Given the description of an element on the screen output the (x, y) to click on. 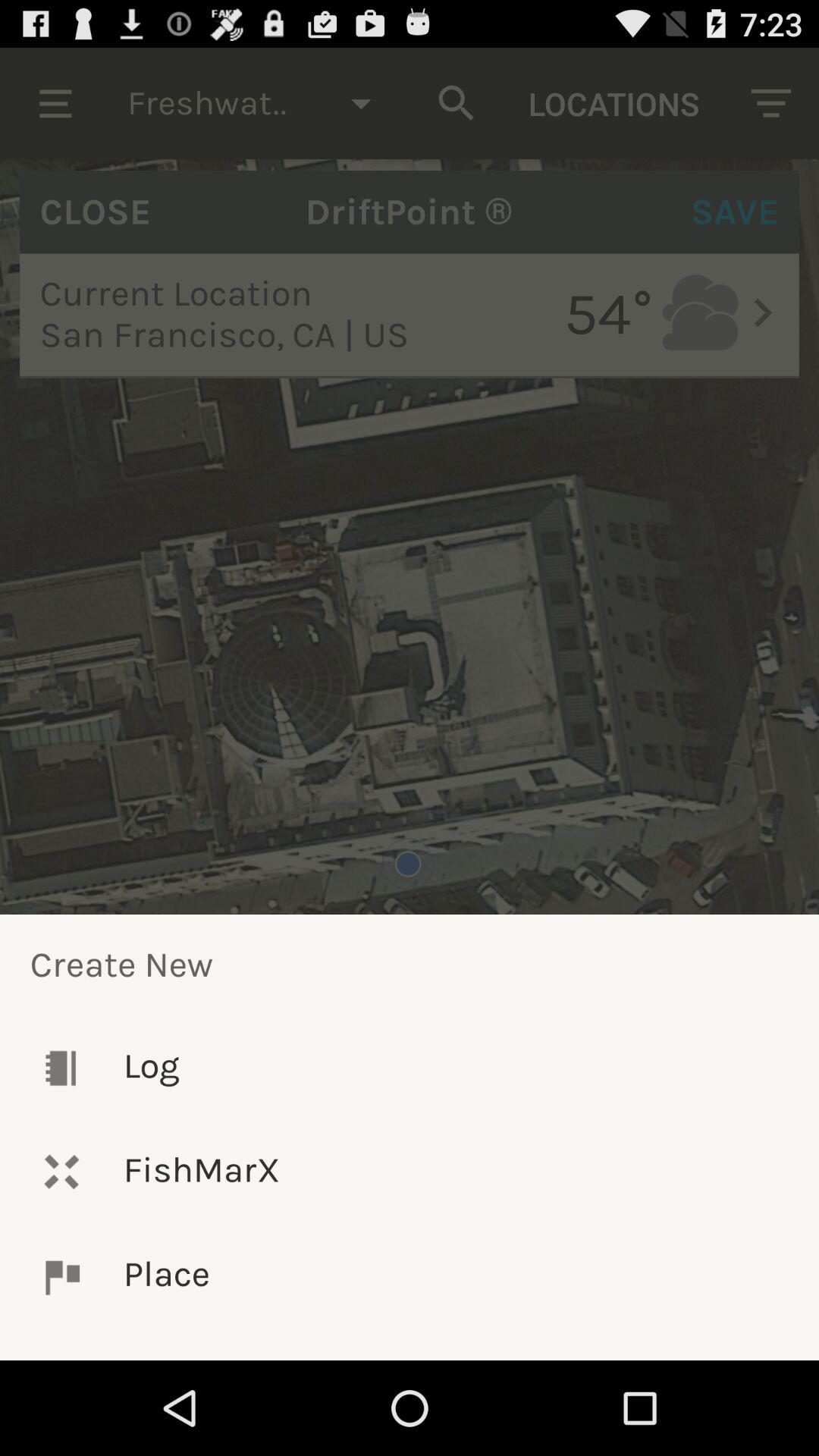
swipe until log (409, 1067)
